Given the description of an element on the screen output the (x, y) to click on. 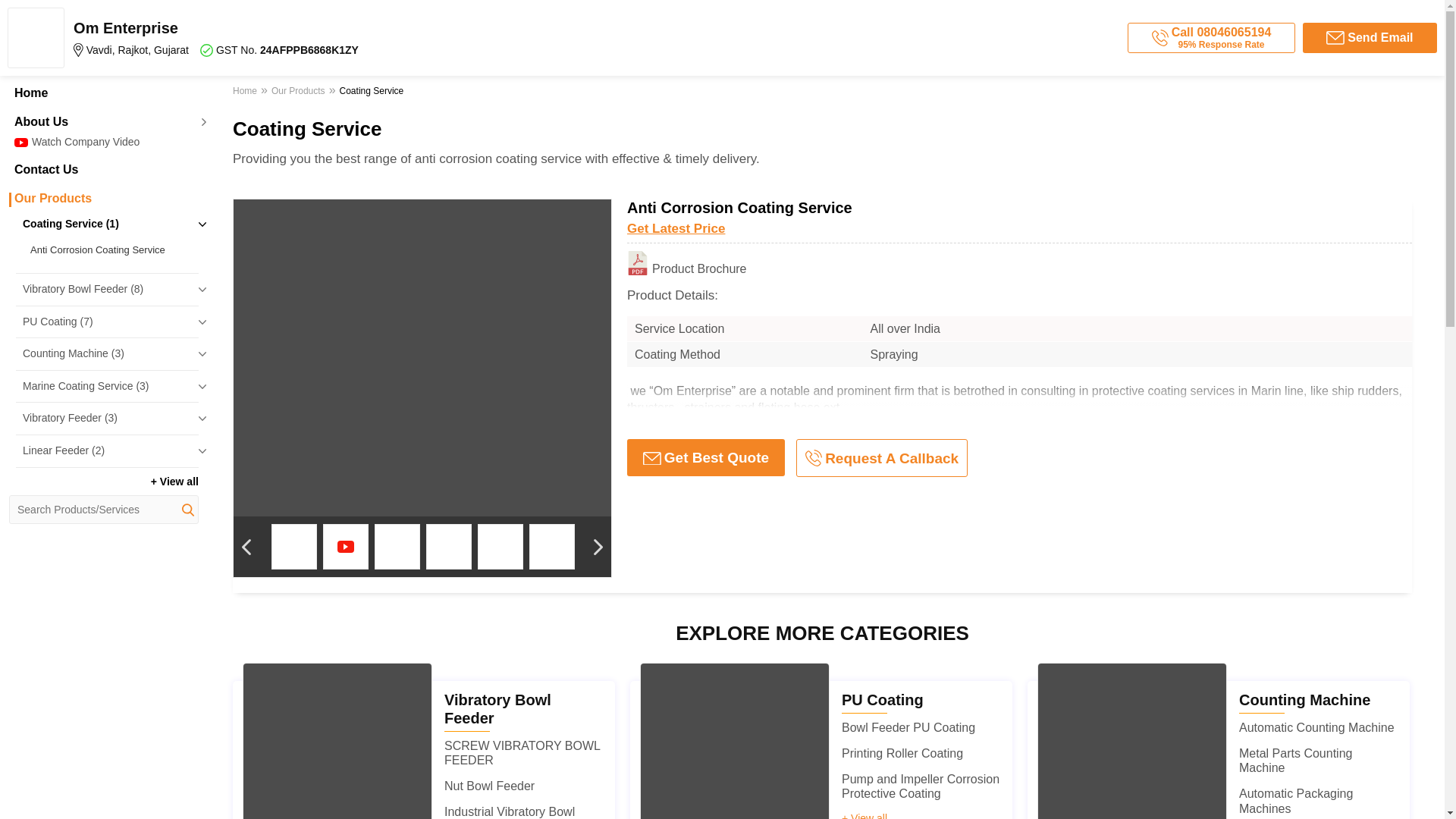
Our Products (103, 198)
Contact Us (103, 169)
About Us (103, 121)
Home (103, 92)
Anti Corrosion Coating Service (285, 37)
